Given the description of an element on the screen output the (x, y) to click on. 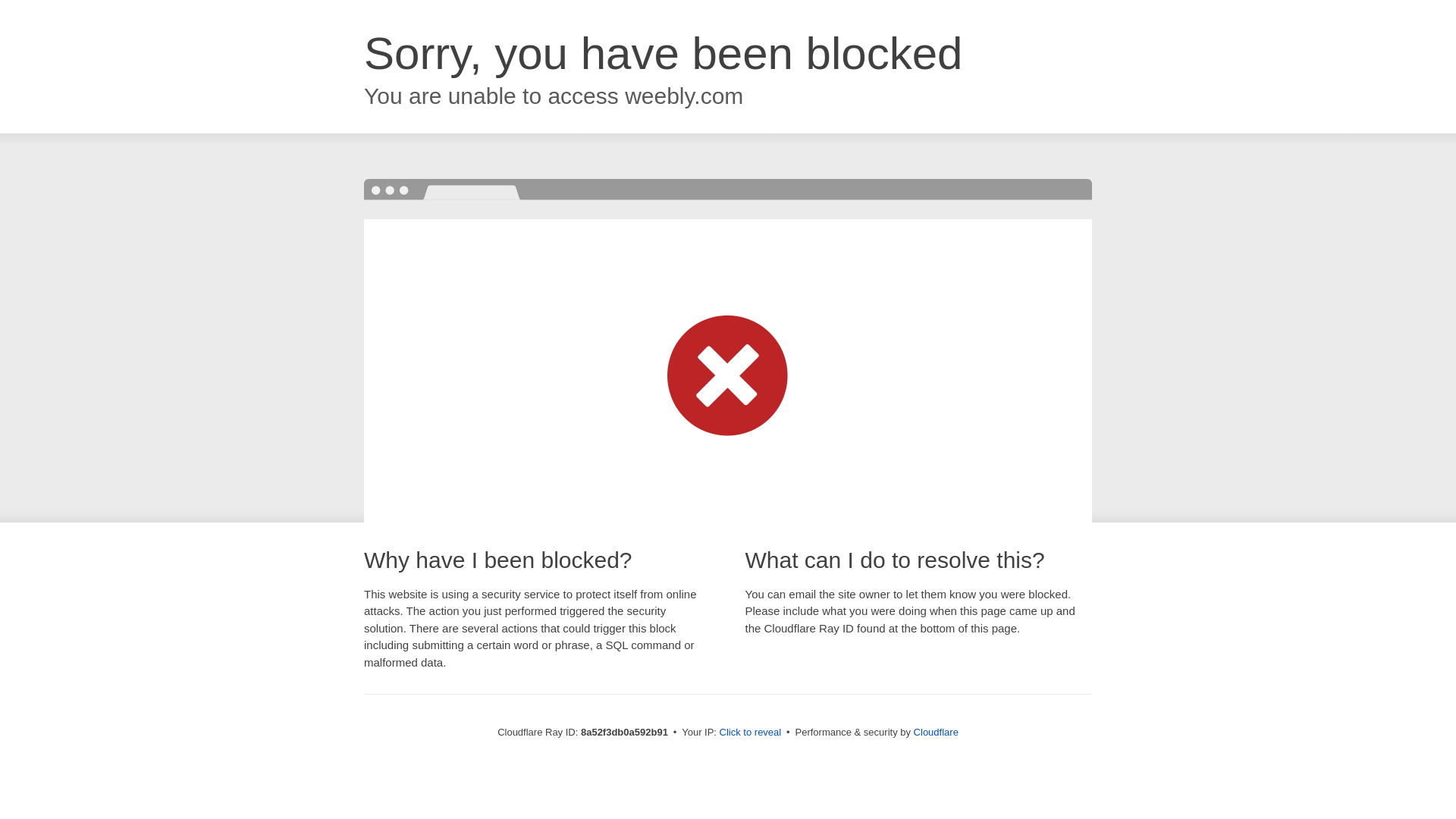
Cloudflare (936, 731)
Click to reveal (750, 732)
